Given the description of an element on the screen output the (x, y) to click on. 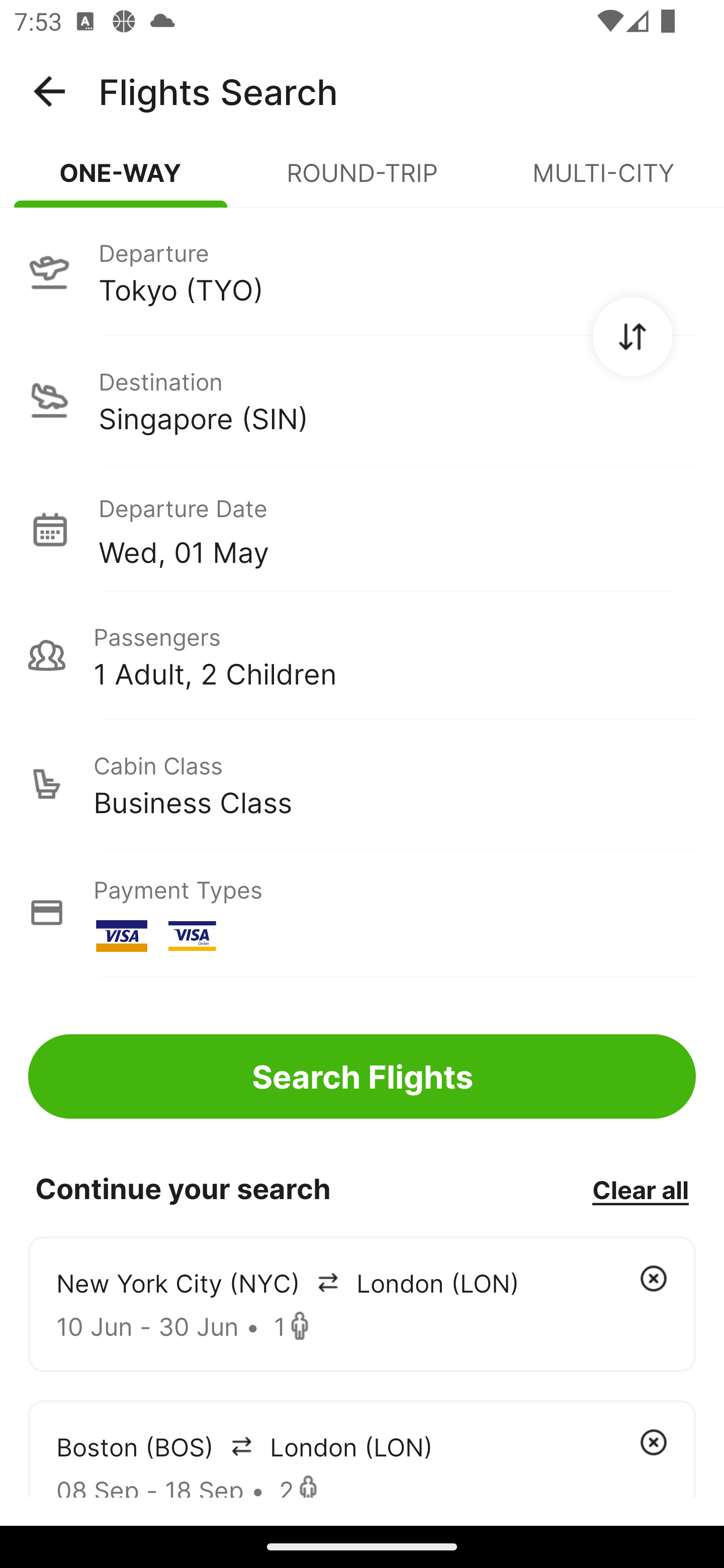
ONE-WAY (120, 180)
ROUND-TRIP (361, 180)
MULTI-CITY (603, 180)
Departure Tokyo (TYO) (362, 270)
Destination Singapore (SIN) (362, 400)
Departure Date Wed, 01 May (396, 528)
Passengers 1 Adult, 2 Children (362, 655)
Cabin Class Business Class (362, 783)
Payment Types (362, 912)
Search Flights (361, 1075)
Clear all (640, 1189)
